Given the description of an element on the screen output the (x, y) to click on. 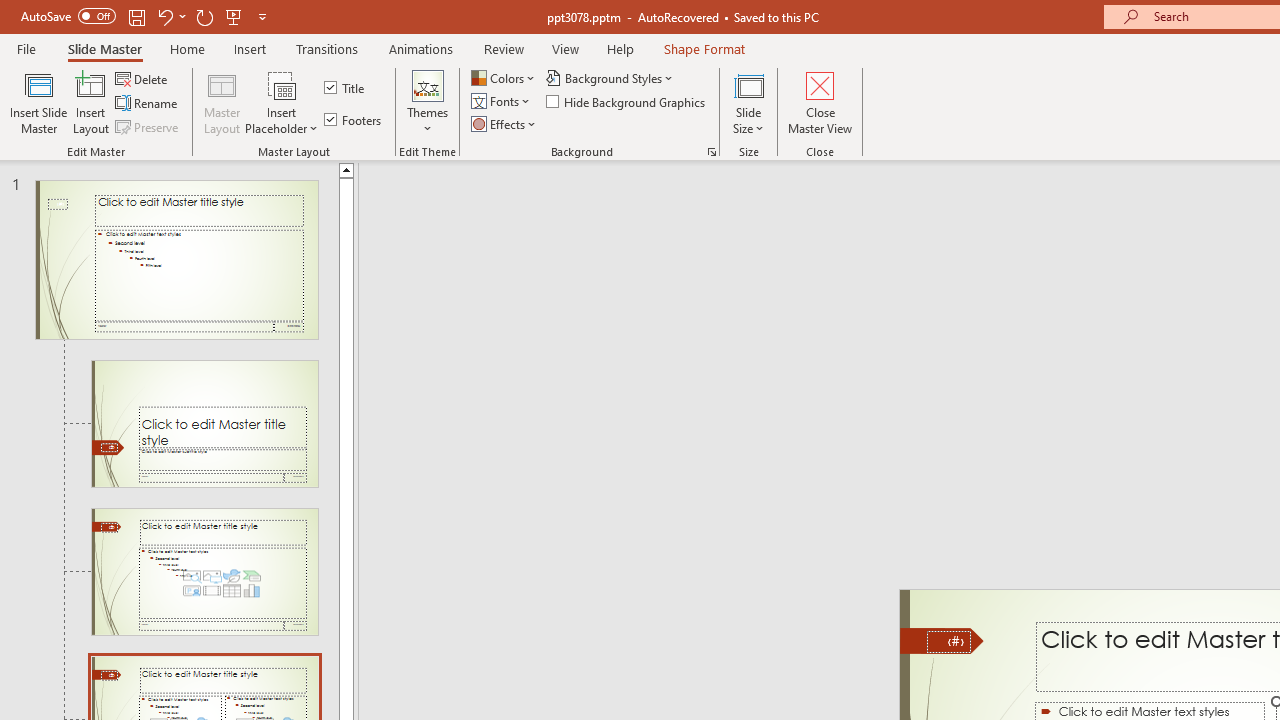
Slide Title Slide Layout: used by slide(s) 1 (204, 423)
Fonts (502, 101)
Slide Wisp Slide Master: used by slide(s) 1 (176, 259)
Footers (354, 119)
Themes (427, 102)
Insert Slide Master (38, 102)
Background Styles (610, 78)
